Given the description of an element on the screen output the (x, y) to click on. 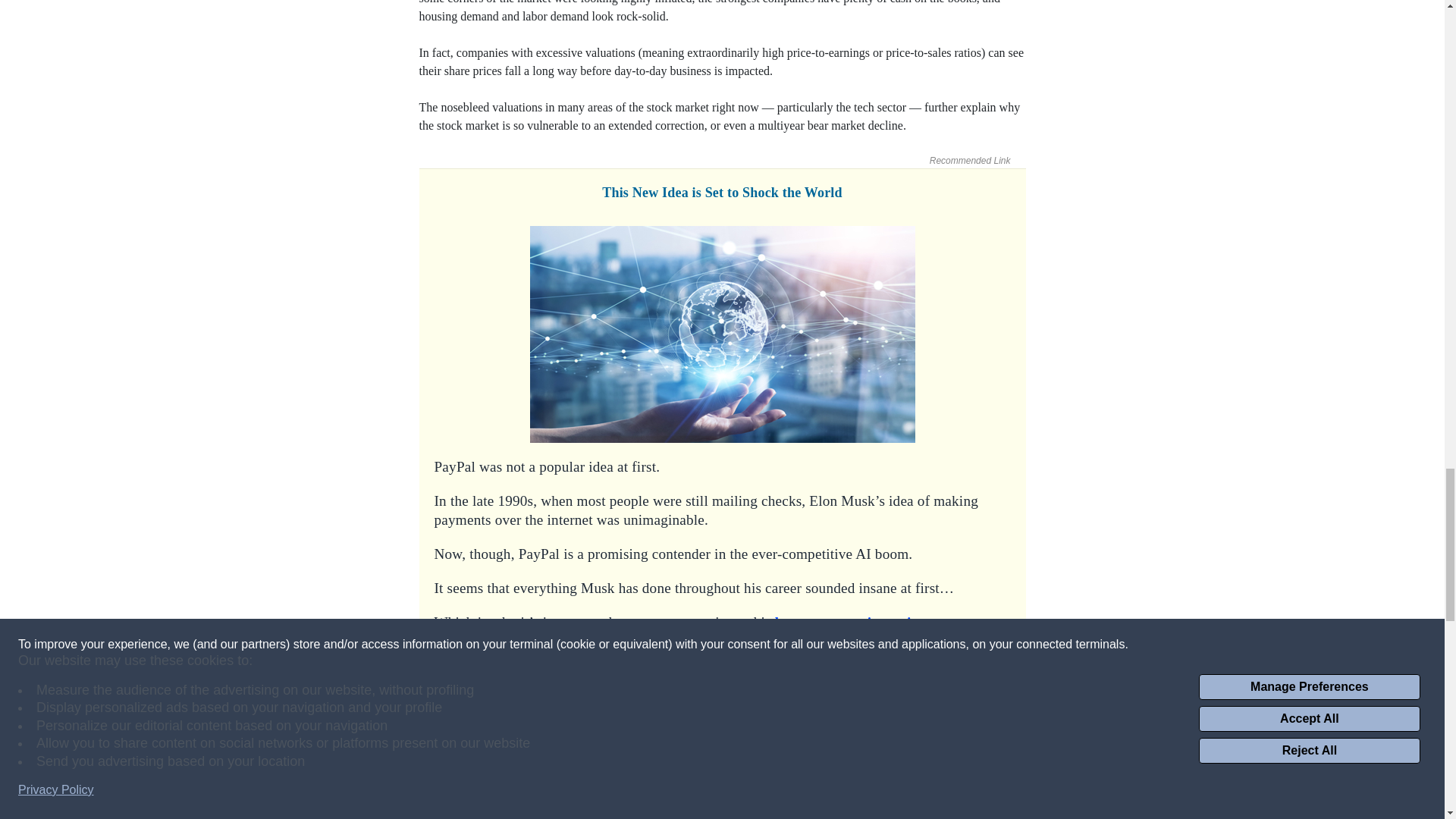
latest, strange invention. (852, 621)
powerful technology ever created. (778, 656)
Click here to learn all the details. (721, 748)
This New Idea is Set to Shock the World (722, 192)
